Given the description of an element on the screen output the (x, y) to click on. 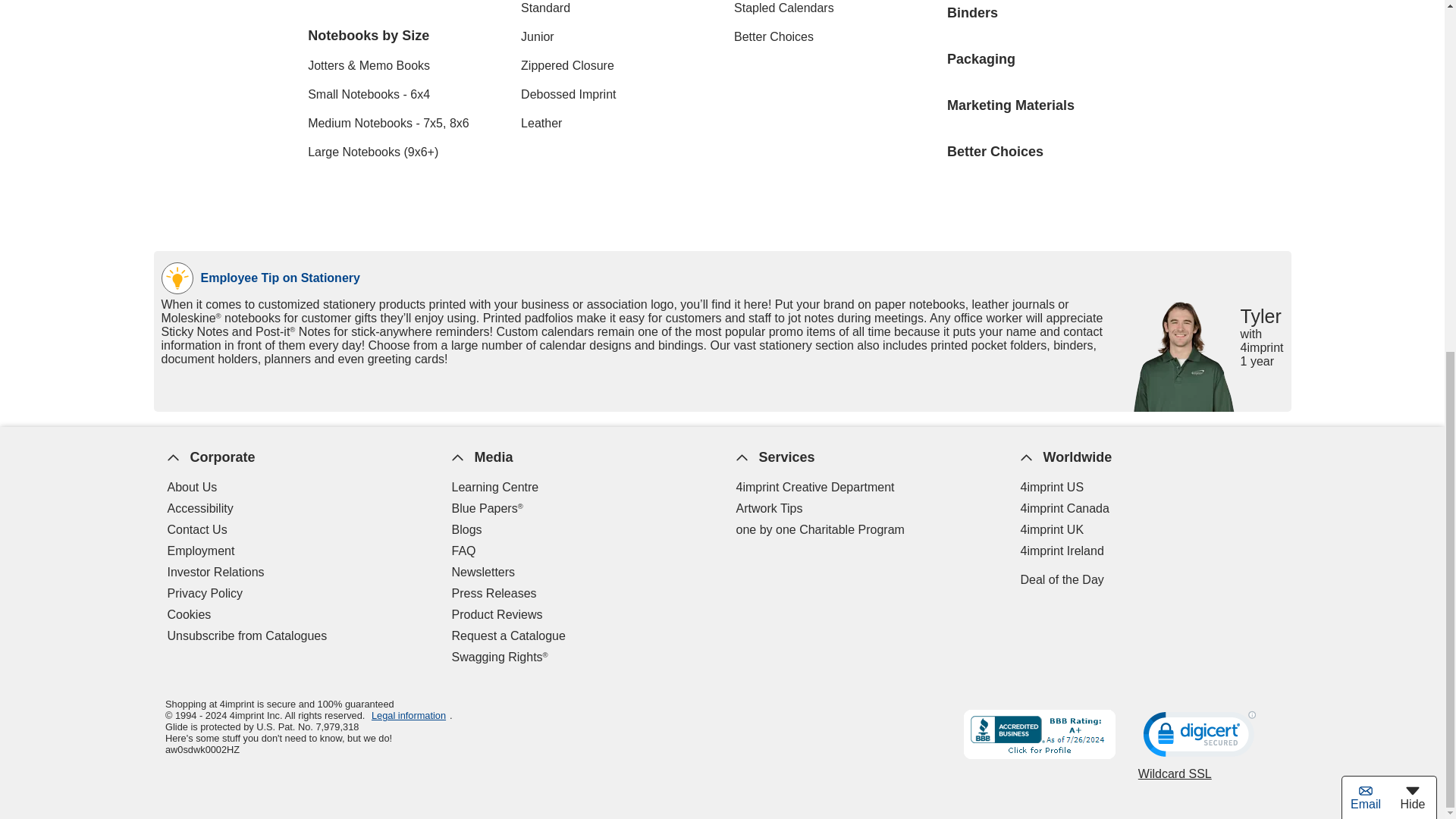
Notebooks by Size (402, 35)
